Given the description of an element on the screen output the (x, y) to click on. 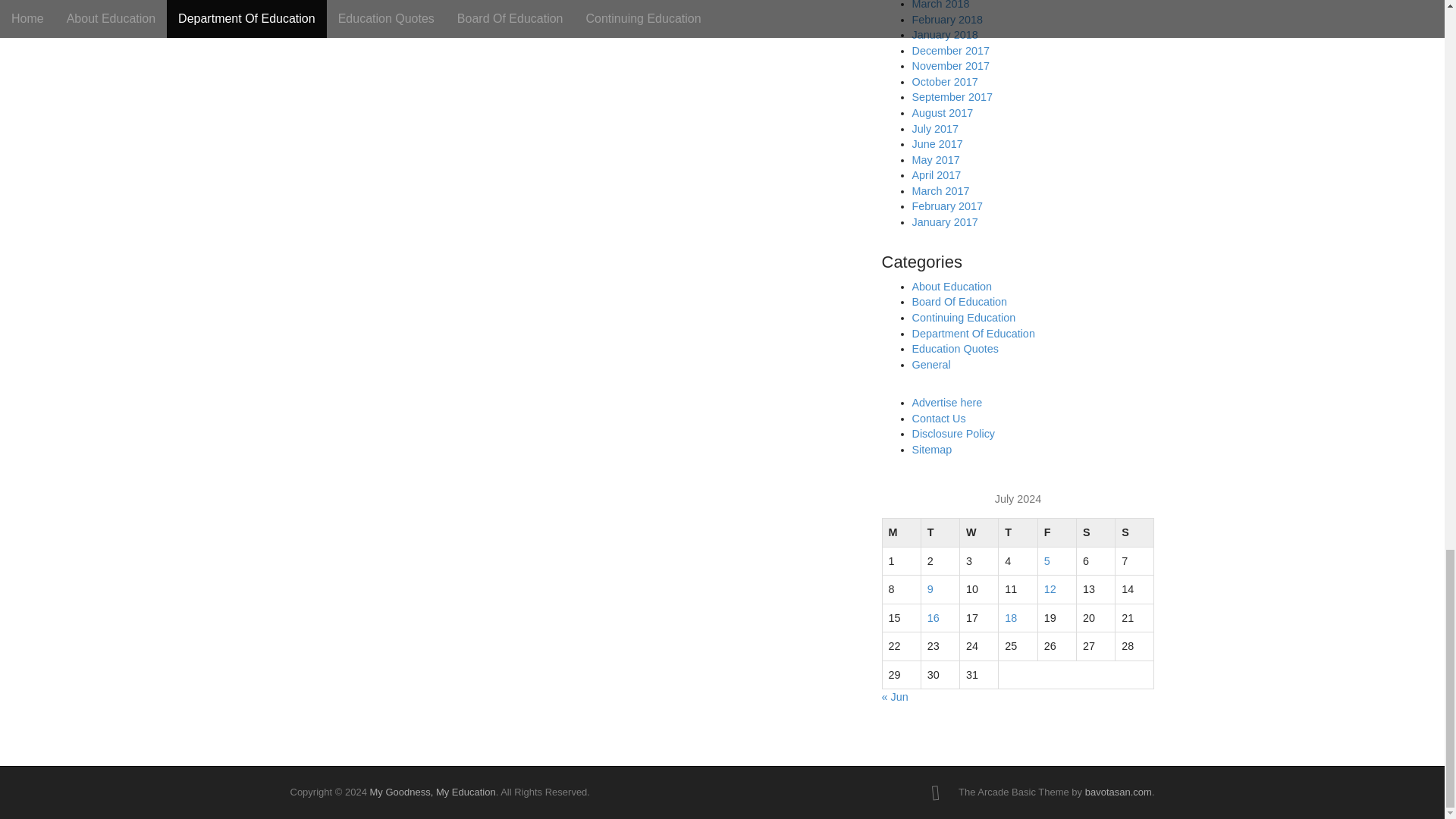
Saturday (1095, 532)
Friday (1055, 532)
Tuesday (939, 532)
Thursday (1017, 532)
Sunday (1134, 532)
Monday (901, 532)
Wednesday (978, 532)
